Given the description of an element on the screen output the (x, y) to click on. 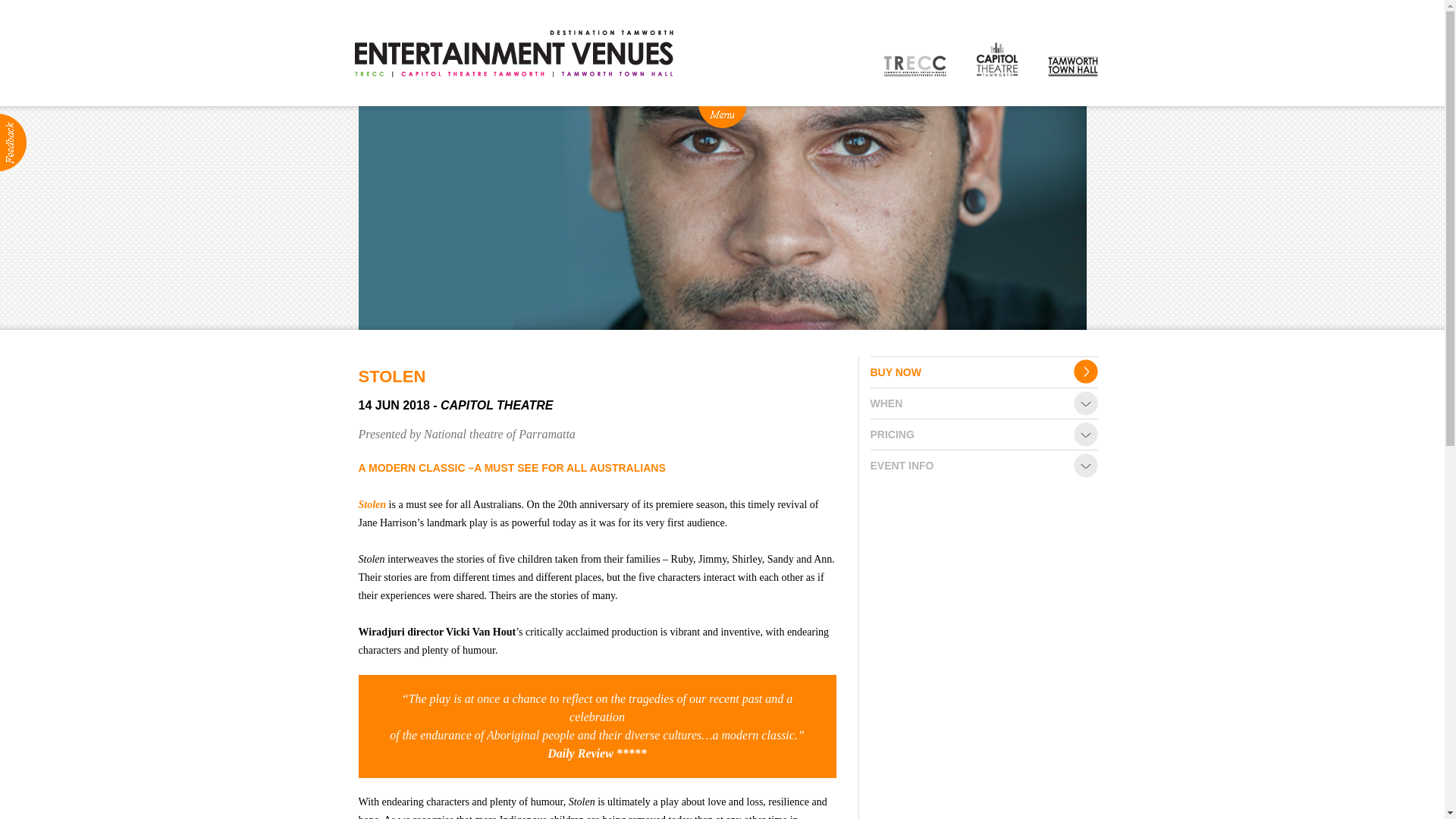
BUY NOW Element type: text (984, 371)
